Given the description of an element on the screen output the (x, y) to click on. 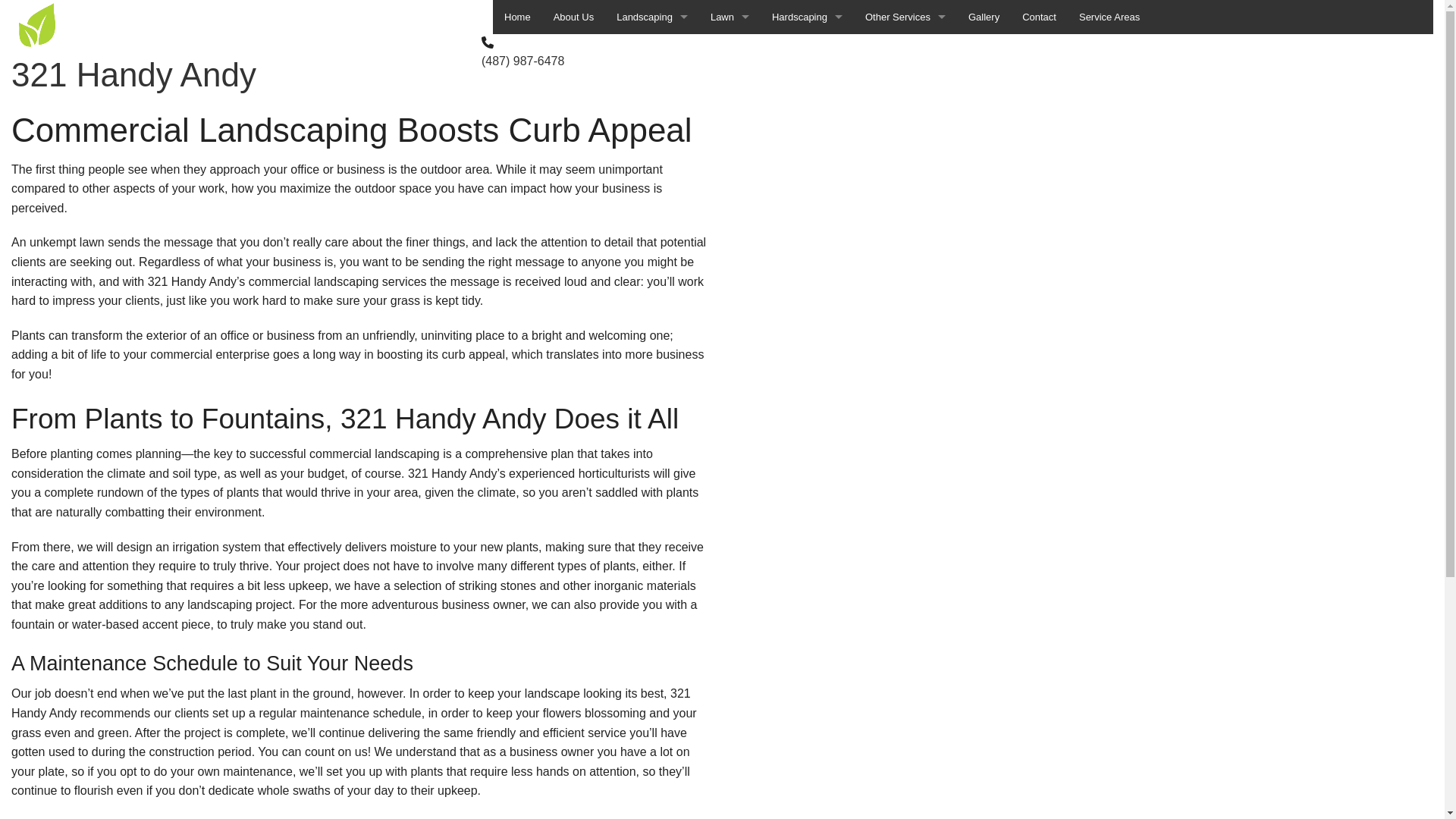
Tree Removal Element type: text (905, 392)
Fertilization Element type: text (905, 85)
(487) 987-6478 Element type: text (522, 60)
Hardscaping Element type: text (806, 17)
Lawn Care Element type: text (729, 153)
Shrubs and Hedges Element type: text (905, 221)
Commercial Snow removal Element type: text (905, 426)
Lawn Mowing Element type: text (729, 119)
Landscape Design Element type: text (652, 187)
Aeration Element type: text (729, 51)
About Us Element type: text (573, 17)
Garden Design Element type: text (652, 119)
Commercial Lawn Mowing Element type: text (729, 85)
Home Element type: text (517, 17)
Landscaping Element type: text (652, 17)
Commercial Property Maintenance Element type: text (905, 51)
Contact Element type: text (1038, 17)
Hardscapes Element type: text (806, 51)
Commercial Landscaping Element type: text (652, 85)
Lawn Element type: text (729, 17)
Lawn Pest Control Element type: text (905, 119)
Mulching Element type: text (905, 153)
321 Handy Andy Element type: text (133, 74)
Retaining Walls Element type: text (806, 85)
Xeriscaping Element type: text (905, 324)
Commercial Garden Design Element type: text (652, 51)
Sprinklers Element type: text (905, 290)
Service Areas Element type: text (1109, 17)
Sodding Element type: text (905, 255)
Irrigation Element type: text (905, 358)
Other Services Element type: text (905, 17)
Gallery Element type: text (983, 17)
Landscaping Element type: text (652, 221)
Residential Snow Removal Element type: text (905, 187)
Landscape Construction Element type: text (652, 153)
